Given the description of an element on the screen output the (x, y) to click on. 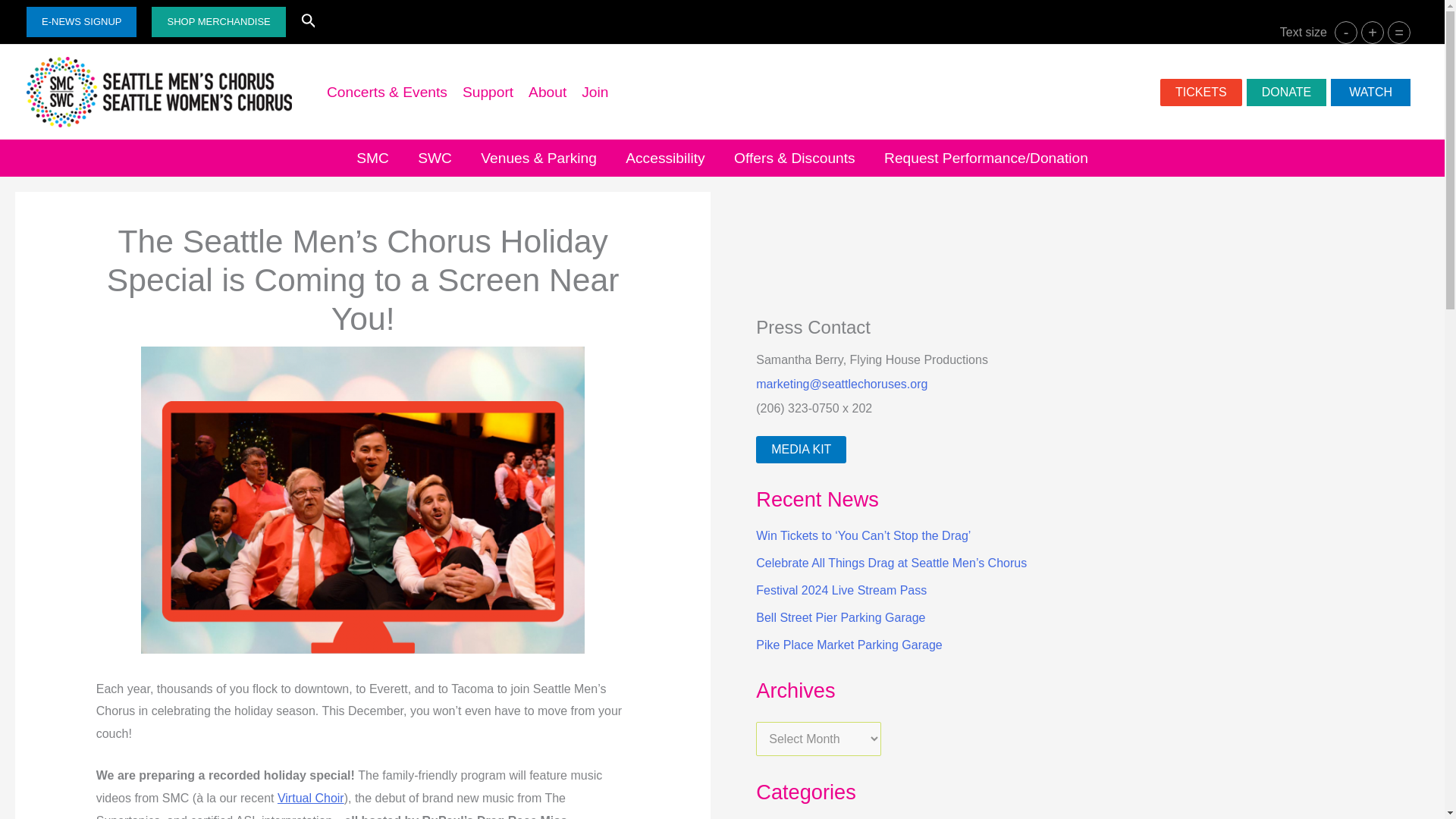
SWC (434, 157)
SHOP MERCHANDISE (218, 21)
DONATE (1286, 92)
Reset text size (1398, 32)
WATCH (1370, 92)
Decrease text size (1345, 32)
TICKETS (1200, 92)
Support (487, 92)
Increase text size (1372, 32)
E-NEWS SIGNUP (81, 21)
Accessibility (665, 157)
SMC (372, 157)
